Given the description of an element on the screen output the (x, y) to click on. 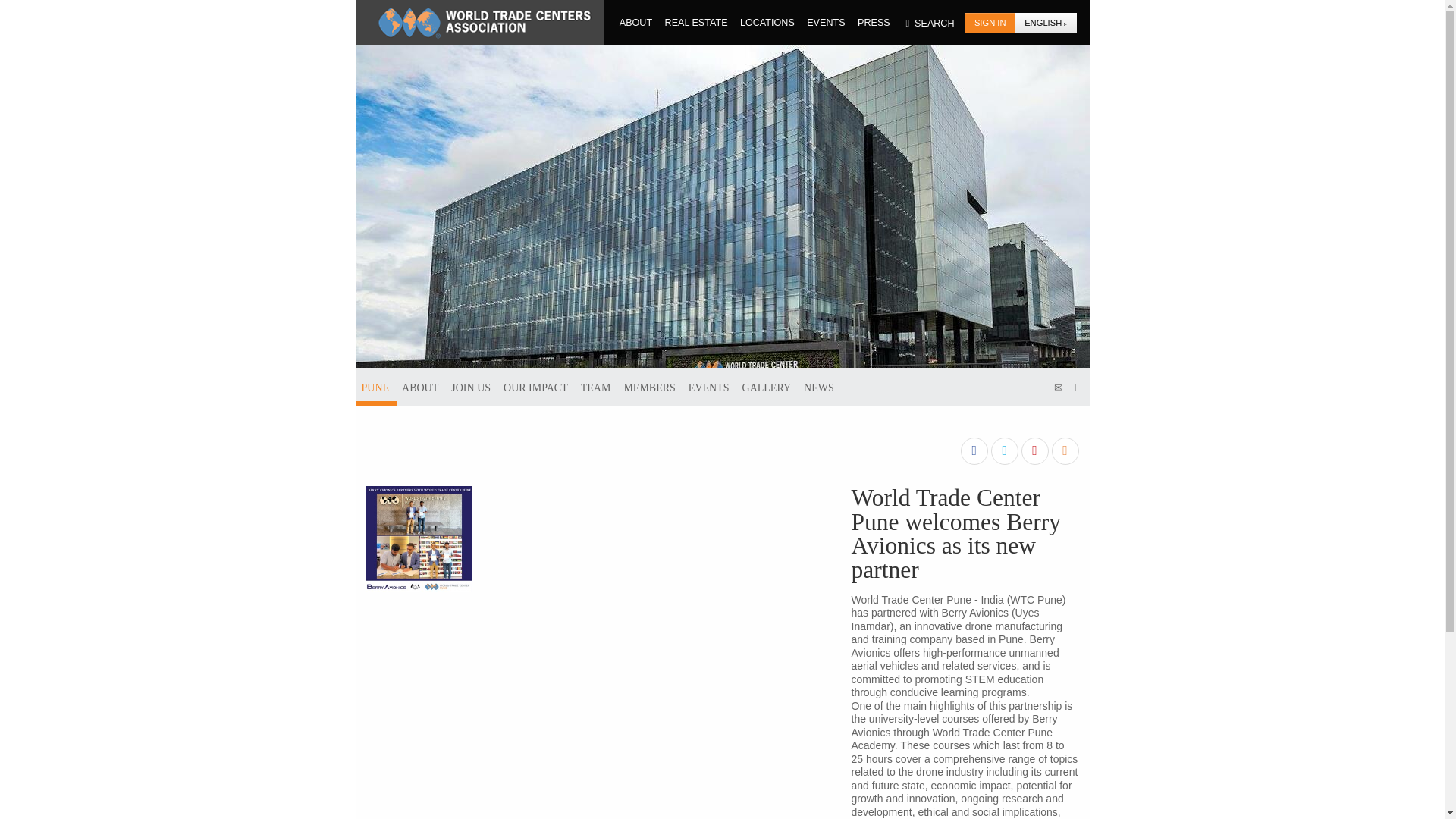
SIGN IN (989, 23)
LOCATIONS (766, 22)
TEAM (595, 386)
MEMBERS (648, 386)
REAL ESTATE (696, 22)
ABOUT (419, 386)
ABOUT (635, 22)
PUNE (374, 386)
OUR IMPACT (535, 386)
PRESS (874, 22)
